Given the description of an element on the screen output the (x, y) to click on. 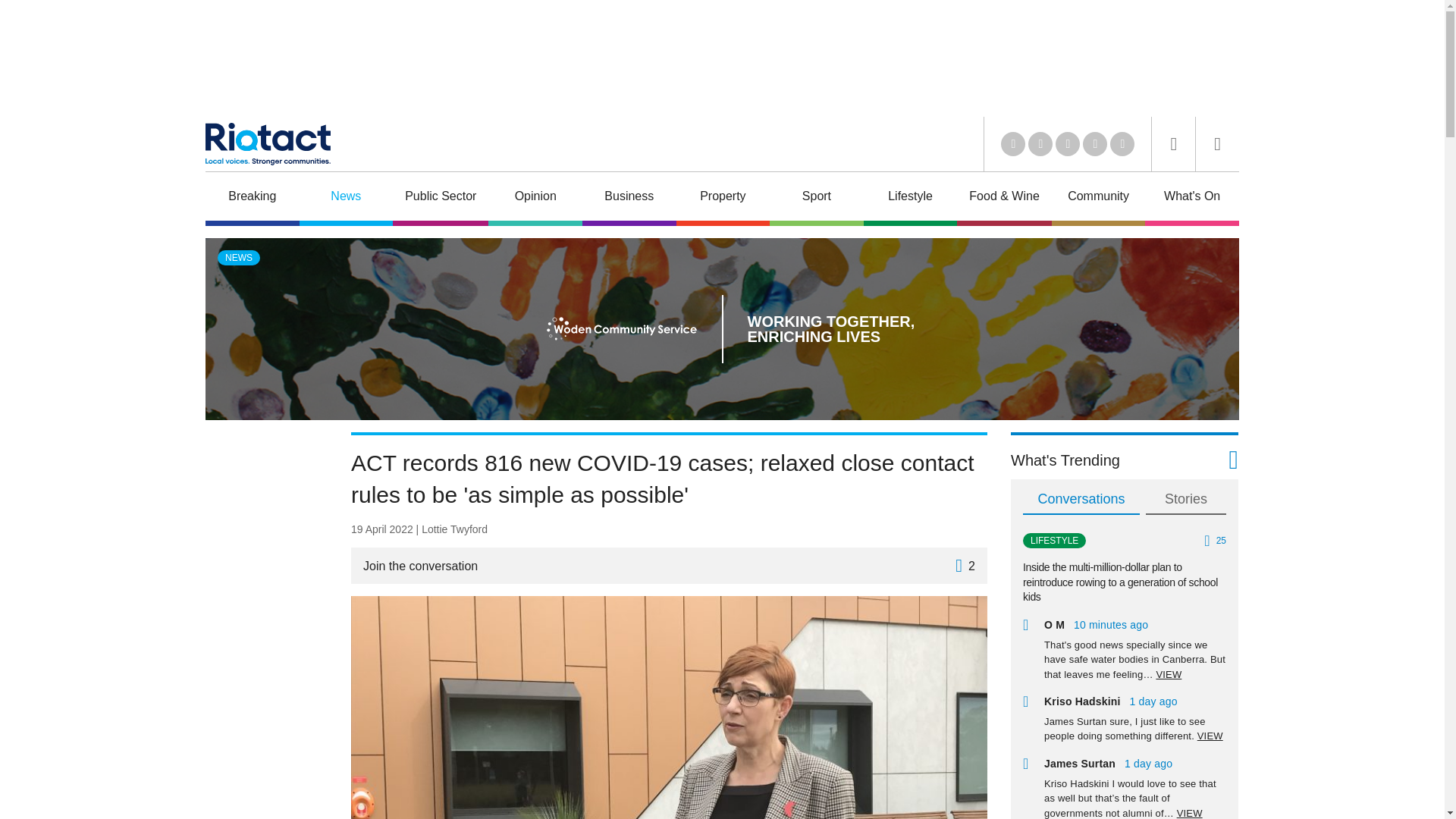
LinkedIn (1013, 143)
News (346, 198)
Breaking (252, 198)
Youtube (1067, 143)
Instagram (1121, 143)
Riotact Home (267, 143)
Twitter (1039, 143)
Facebook (1094, 143)
